Given the description of an element on the screen output the (x, y) to click on. 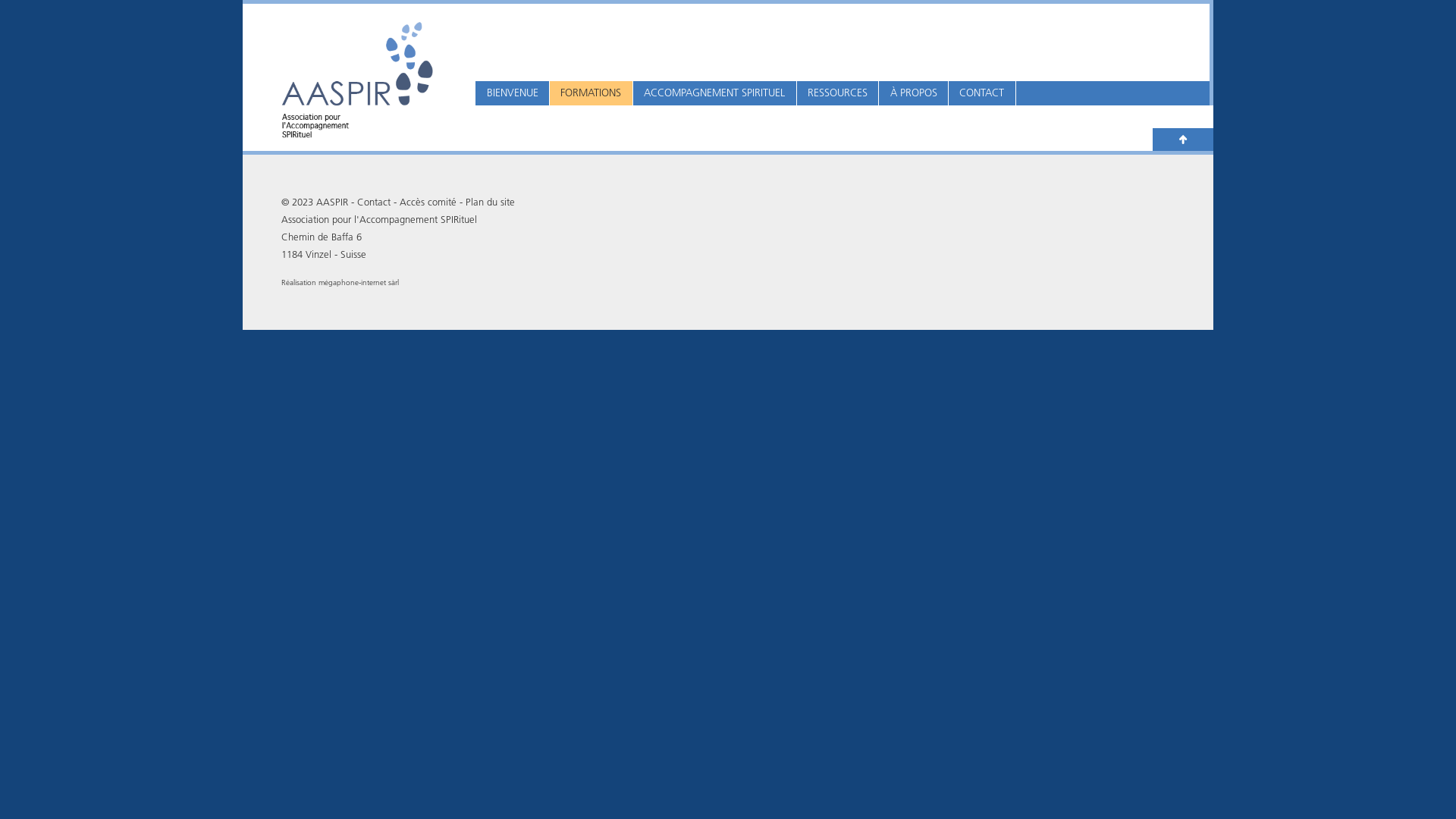
Haut de page Element type: hover (1182, 139)
AASPIR Element type: text (332, 201)
Plan du site Element type: text (489, 201)
CONTACT Element type: text (981, 93)
Contact Element type: text (373, 201)
ACCOMPAGNEMENT SPIRITUEL Element type: text (714, 93)
FORMATIONS Element type: text (590, 93)
RESSOURCES Element type: text (837, 93)
BIENVENUE Element type: text (512, 93)
